Given the description of an element on the screen output the (x, y) to click on. 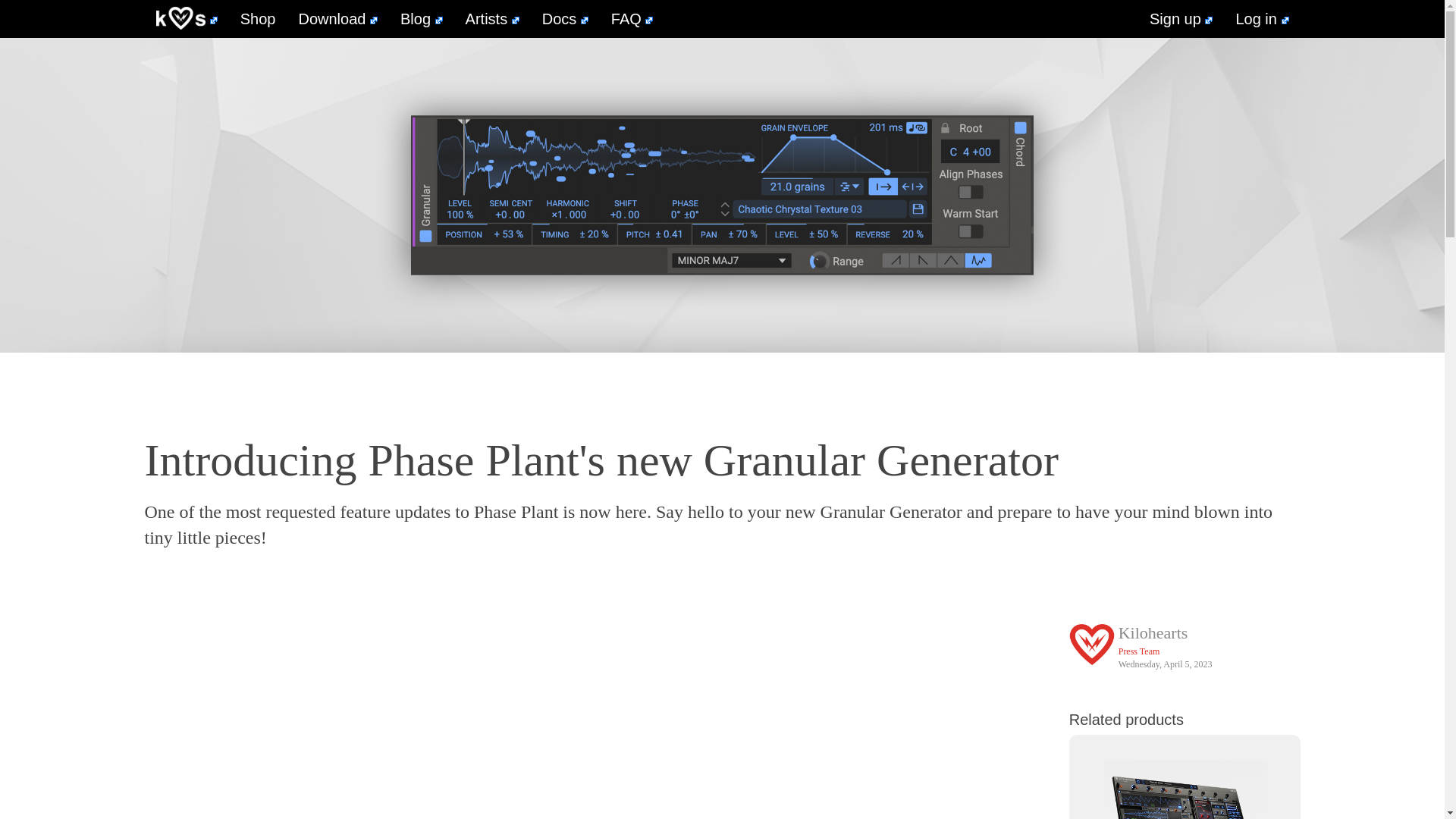
FAQ (632, 18)
Log in (1262, 18)
Phase Plant (1184, 780)
Docs (565, 18)
Download (337, 18)
Sign up (1181, 18)
Artists (492, 18)
Blog (421, 18)
